Given the description of an element on the screen output the (x, y) to click on. 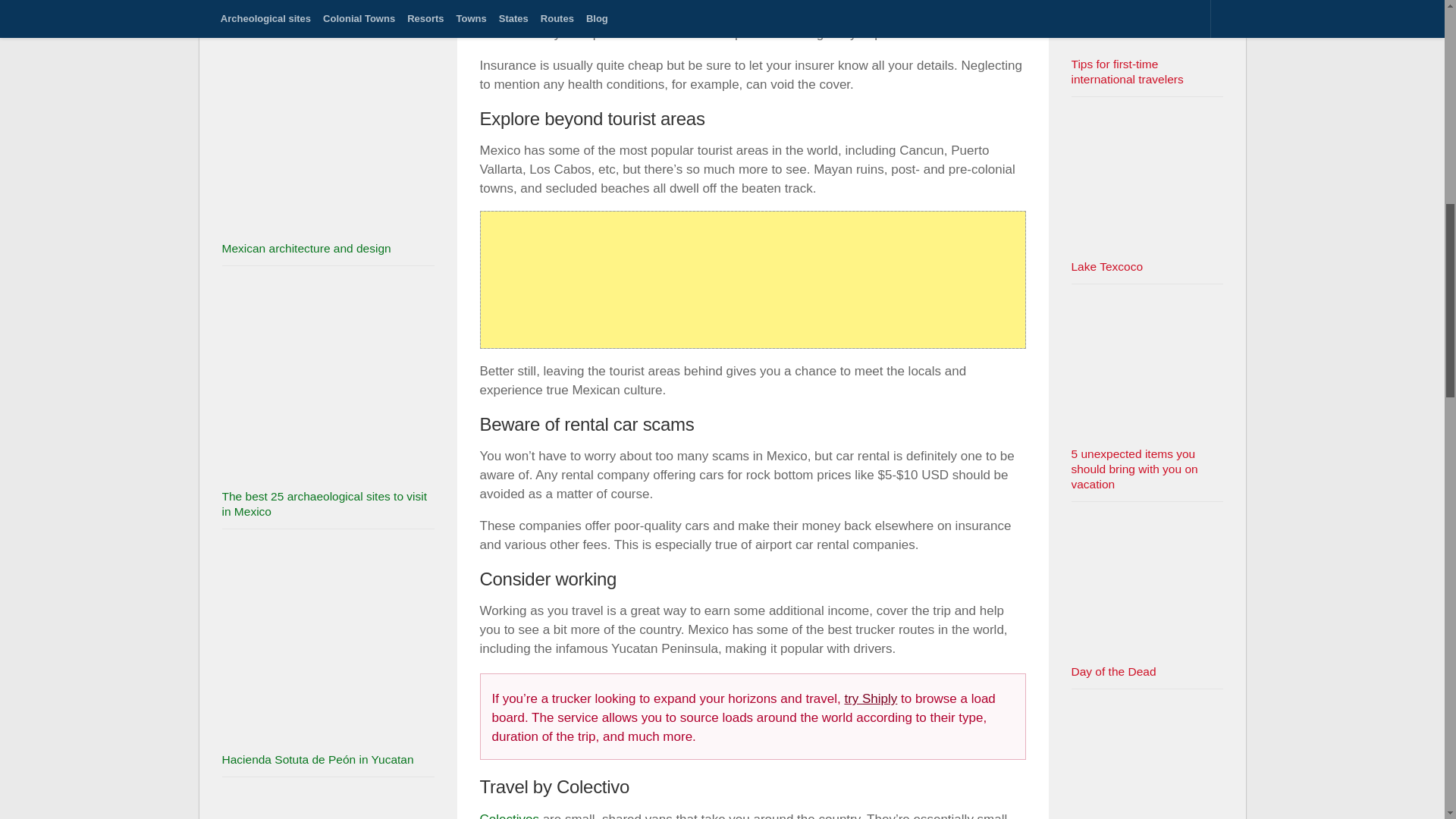
Permalink to Top 10 colonial cities (275, 3)
Permalink to Mexican architecture and design (305, 247)
try Shiply (870, 698)
Colectivos (508, 815)
